Given the description of an element on the screen output the (x, y) to click on. 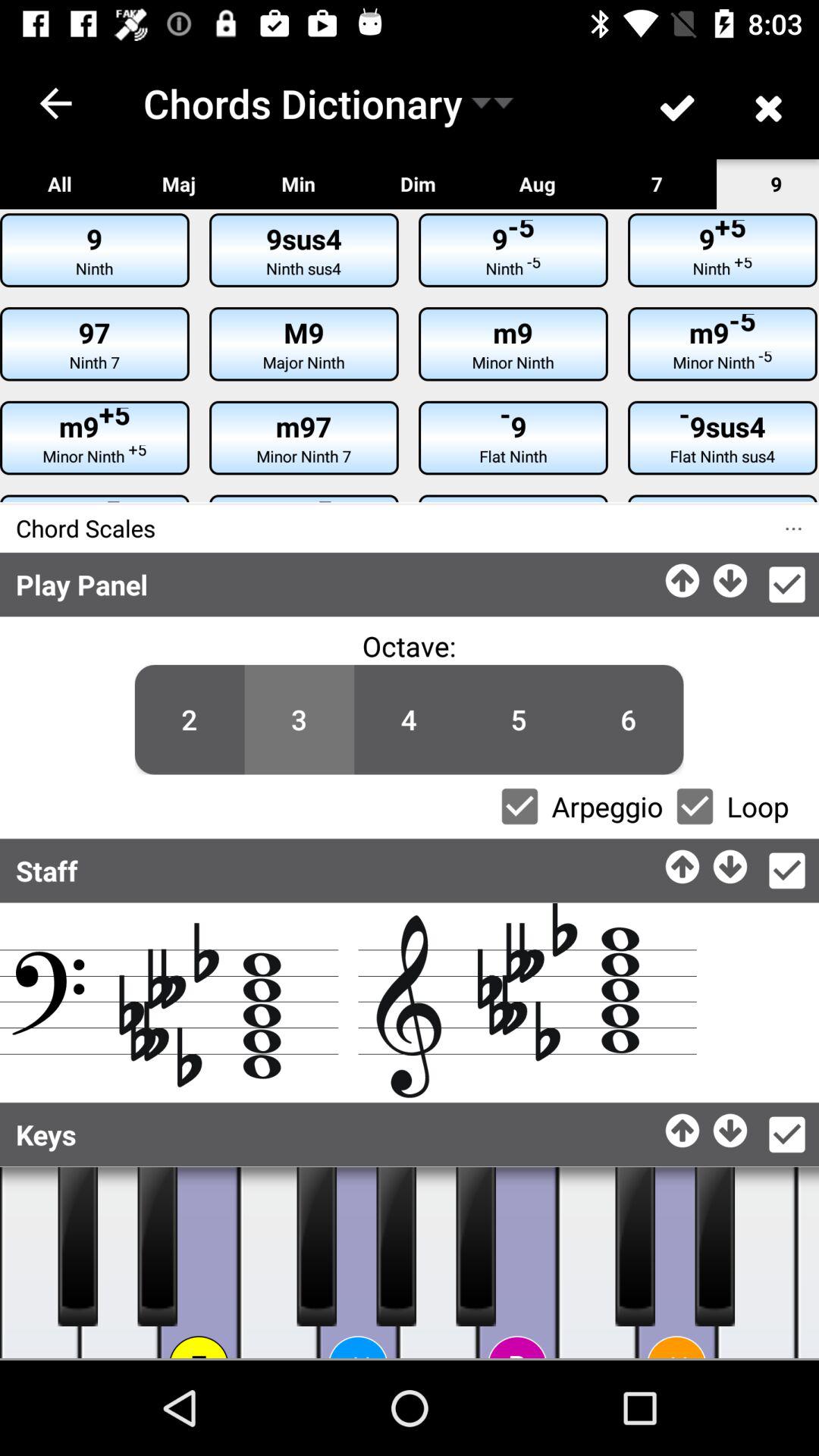
click to check box (787, 870)
